Given the description of an element on the screen output the (x, y) to click on. 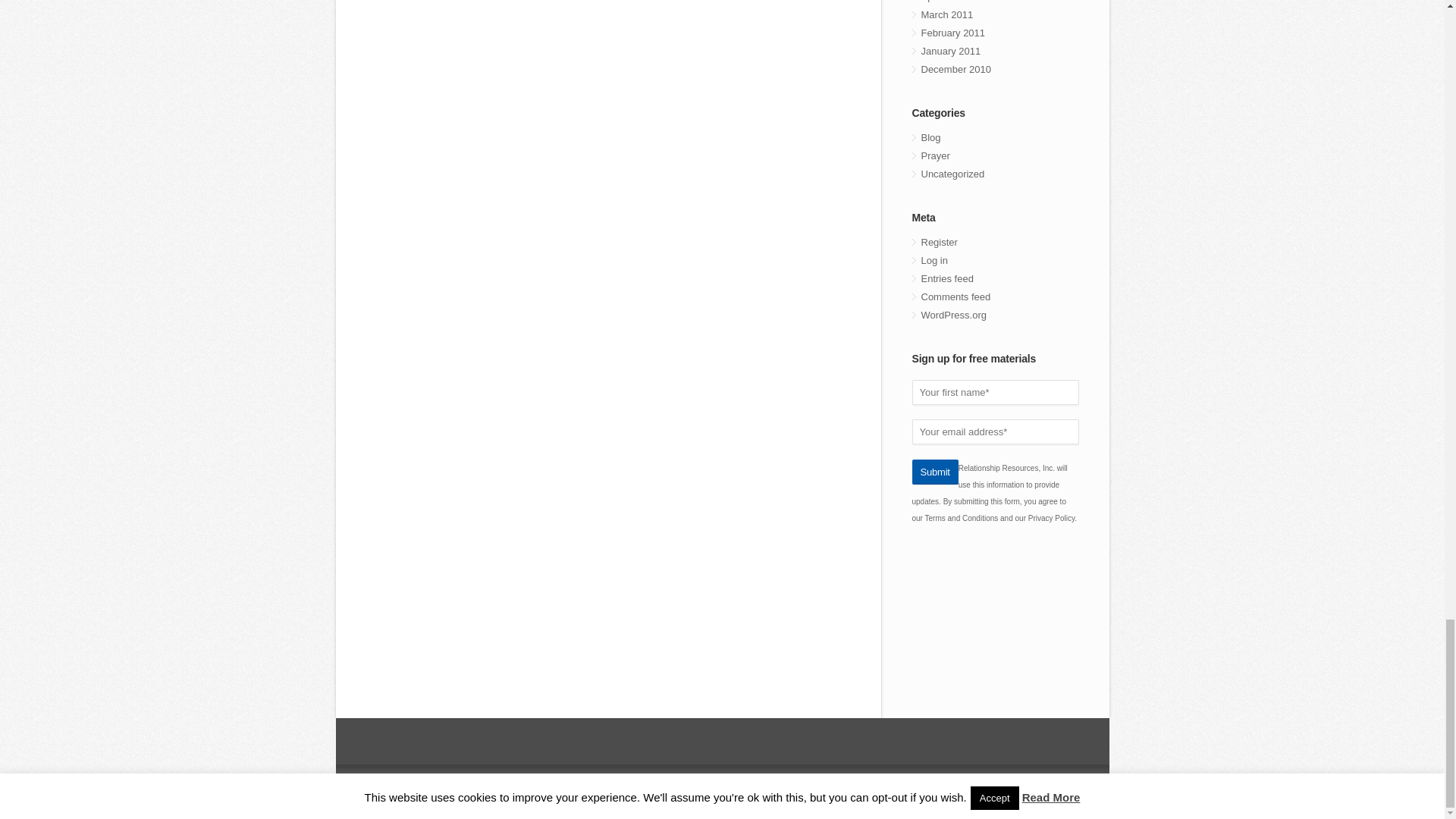
Submit (934, 471)
